Given the description of an element on the screen output the (x, y) to click on. 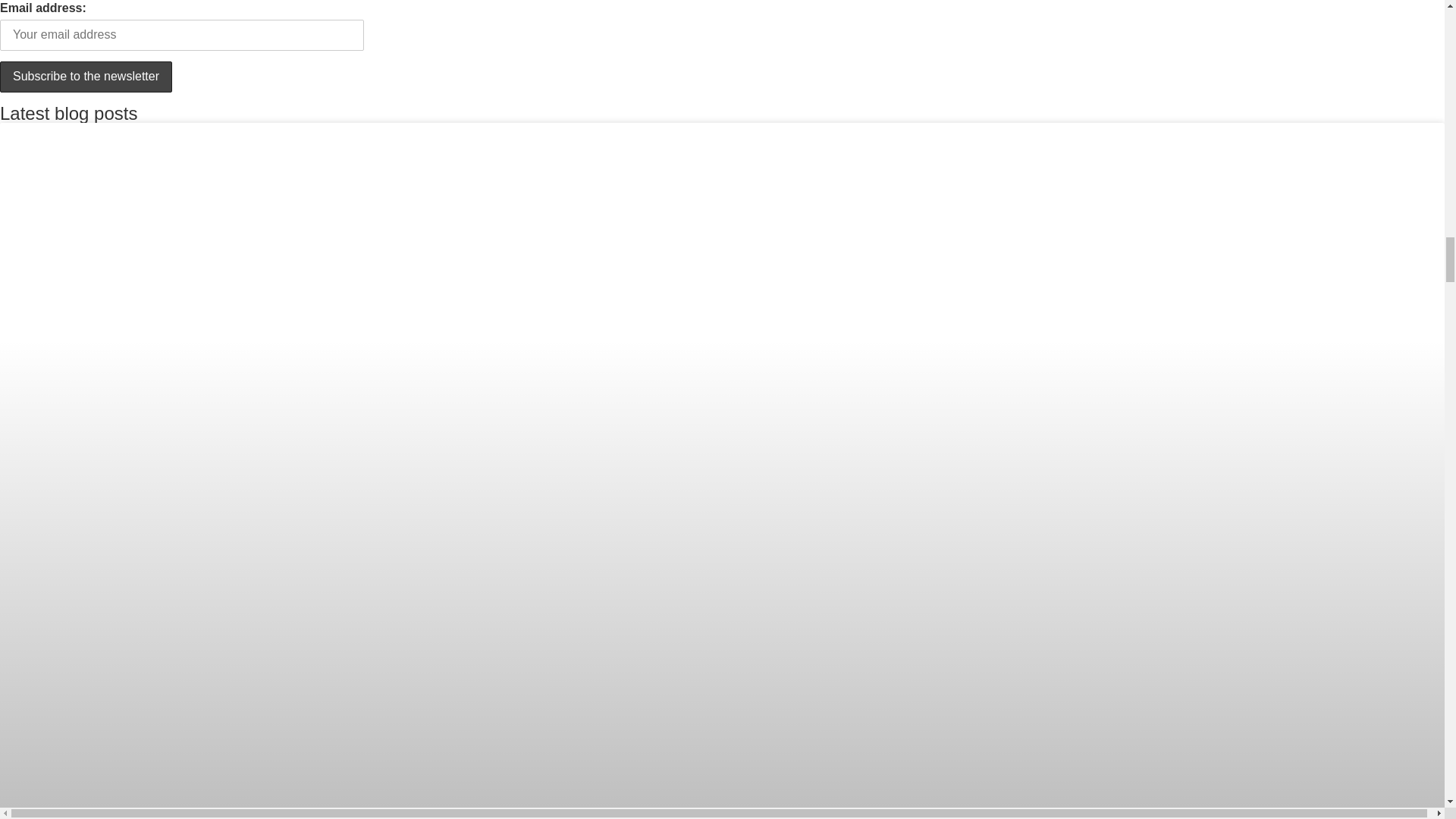
Subscribe to the newsletter (85, 76)
